Given the description of an element on the screen output the (x, y) to click on. 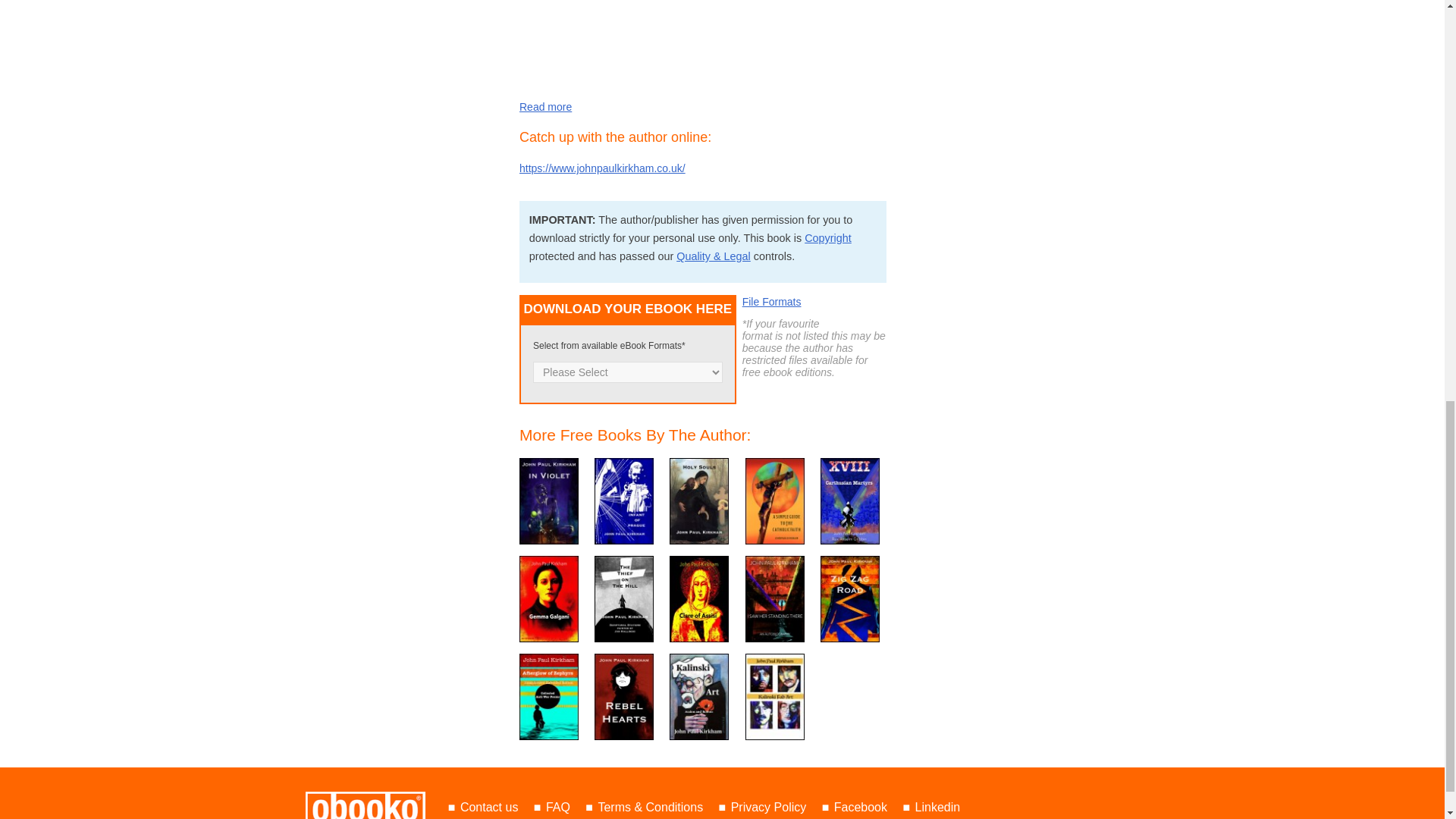
Copyright (828, 237)
Saint Gemma Galgani (548, 599)
Read more (545, 106)
St Clare of Assisi (699, 599)
In Violet (548, 500)
XVIII Carthusian Martyrs (850, 500)
File Formats (772, 301)
The Thief on The Hill (623, 599)
Protected by Copyright (828, 237)
The Holy Souls (699, 500)
A Simple Guide to the Catholic Faith (775, 500)
Afterglow of Zephyrs (548, 696)
Checked for Quality (714, 256)
I Saw Her Standing There (775, 599)
Zig Zag Road (850, 599)
